Given the description of an element on the screen output the (x, y) to click on. 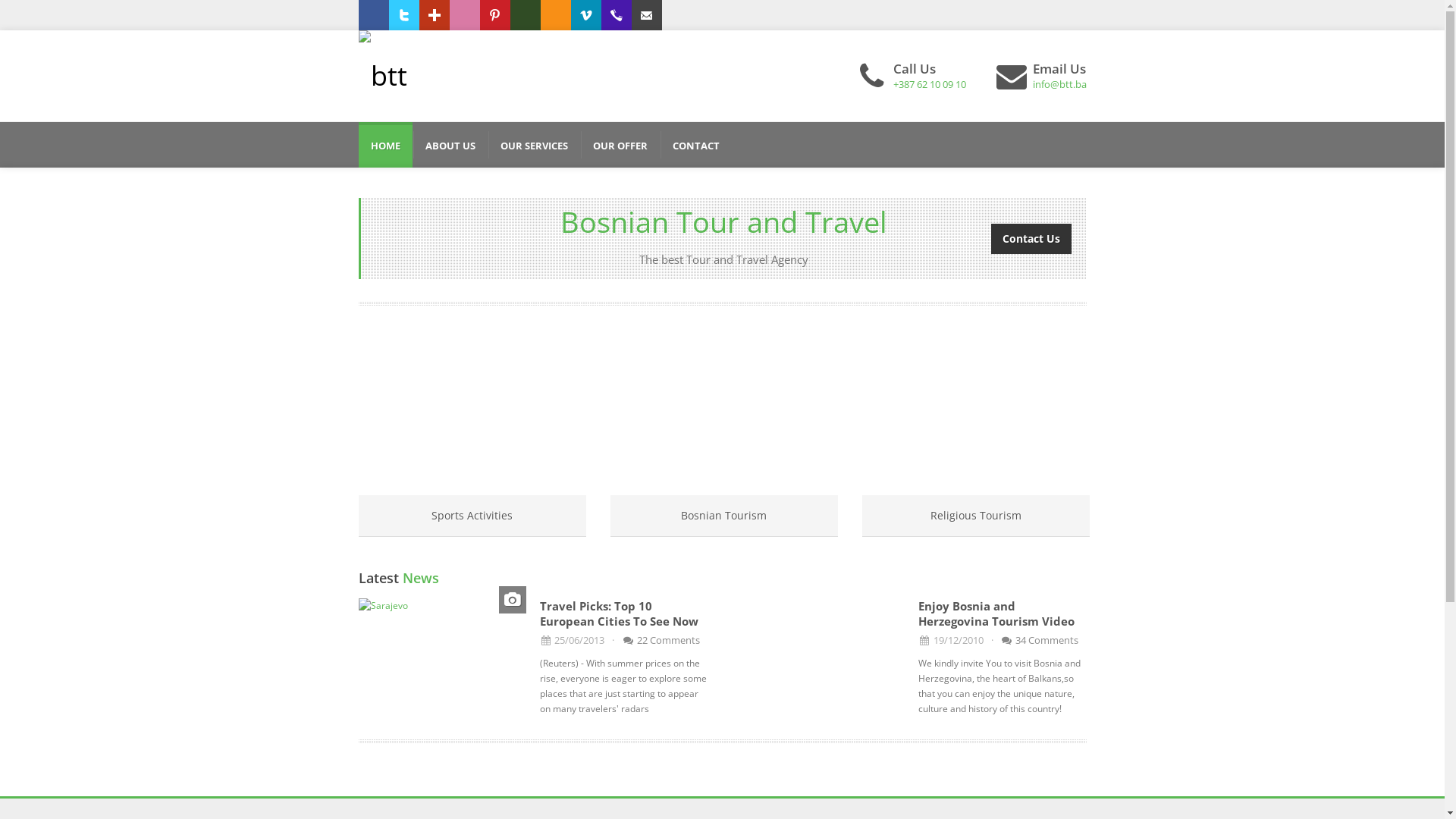
btt Element type: hover (381, 75)
Travel Picks: Top 10 European Cities To See Now Element type: text (618, 613)
Bosnian Tourism Element type: text (723, 515)
Enjoy Bosnia and Herzegovina Tourism Video Element type: text (996, 613)
OUR OFFER Element type: text (619, 144)
ABOUT US Element type: text (449, 144)
Sports Activities Element type: text (471, 515)
34 Comments Element type: text (1039, 639)
HOME Element type: text (384, 144)
Sarajevo Element type: hover (441, 605)
CONTACT Element type: text (695, 144)
Religious Tourism Element type: text (975, 515)
OUR SERVICES Element type: text (534, 144)
22 Comments Element type: text (660, 639)
Contact Us Element type: text (1030, 237)
